Given the description of an element on the screen output the (x, y) to click on. 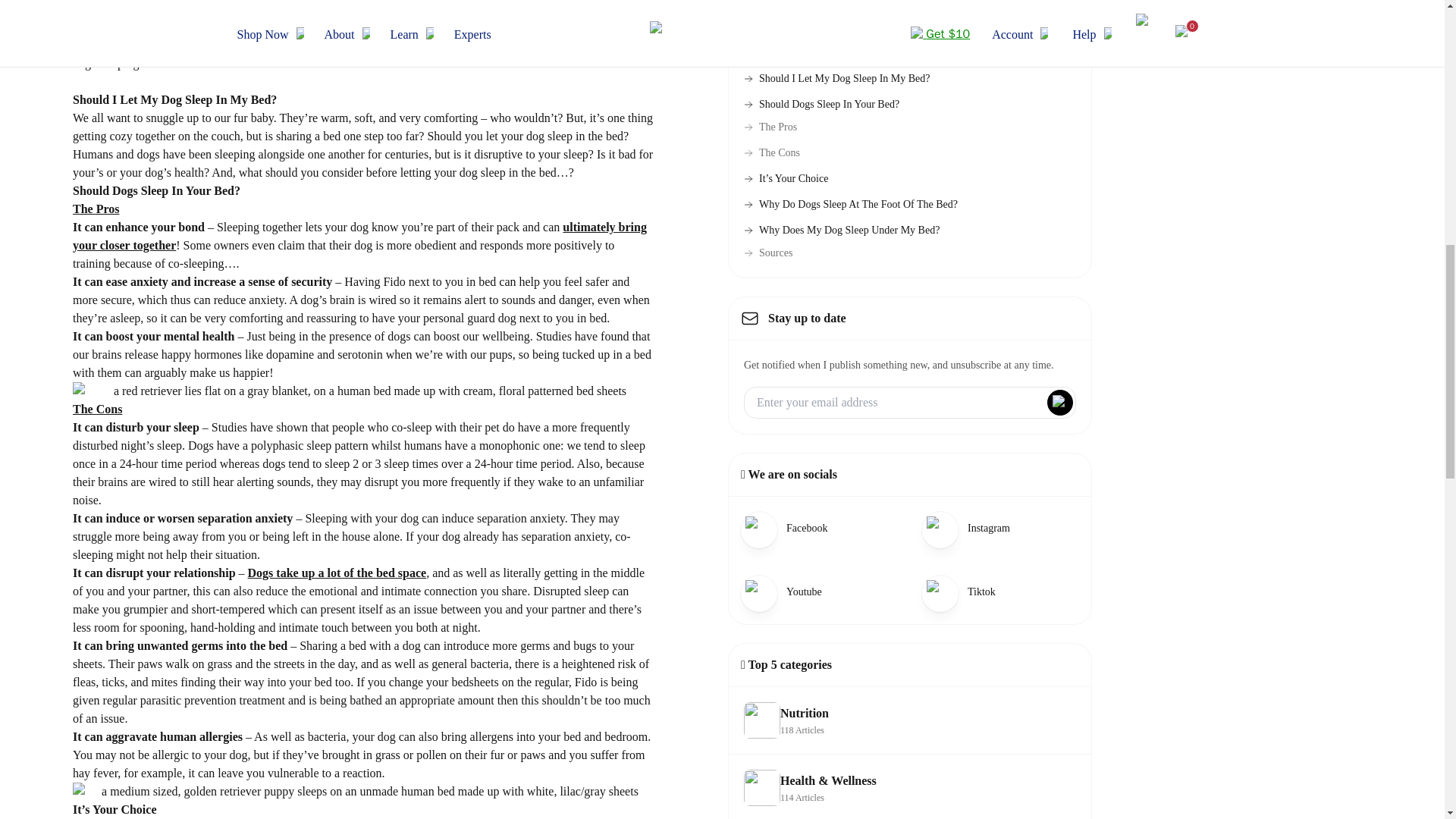
Should Dogs Sleep In Your Bed? (821, 104)
Dogs take up a lot of the bed space (336, 572)
The Cons (771, 152)
Instagram (1000, 528)
Should I Let My Dog Sleep In My Bed? (837, 78)
Why Do Dogs Sleep At The Foot Of The Bed? (851, 204)
The Pros (770, 127)
Sources (768, 253)
ultimately bring your closer together (359, 235)
Youtube (909, 720)
Why Does My Dog Sleep Under My Bed? (819, 592)
Facebook (841, 230)
Tiktok (819, 528)
